Given the description of an element on the screen output the (x, y) to click on. 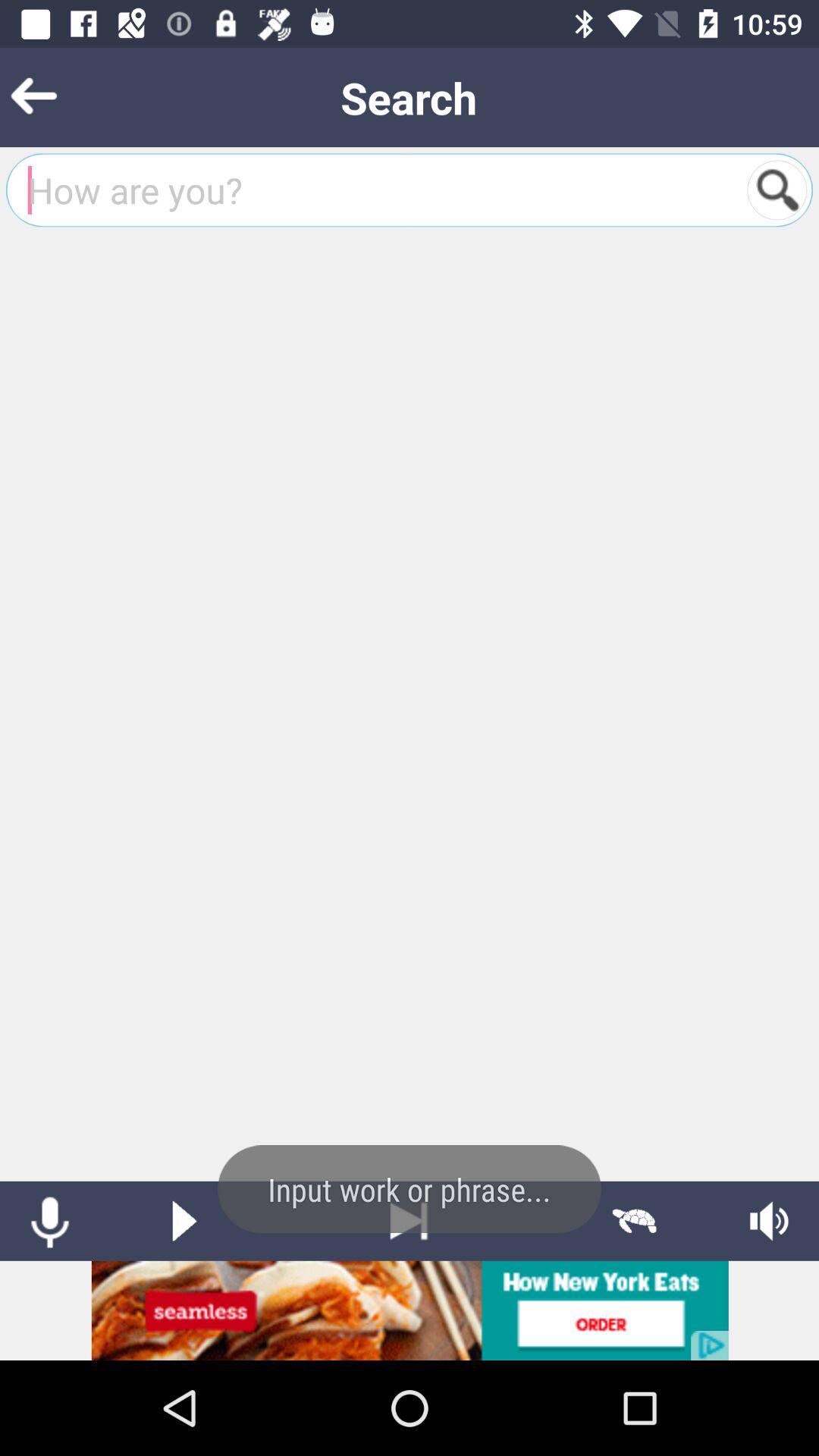
click to play (184, 1220)
